Given the description of an element on the screen output the (x, y) to click on. 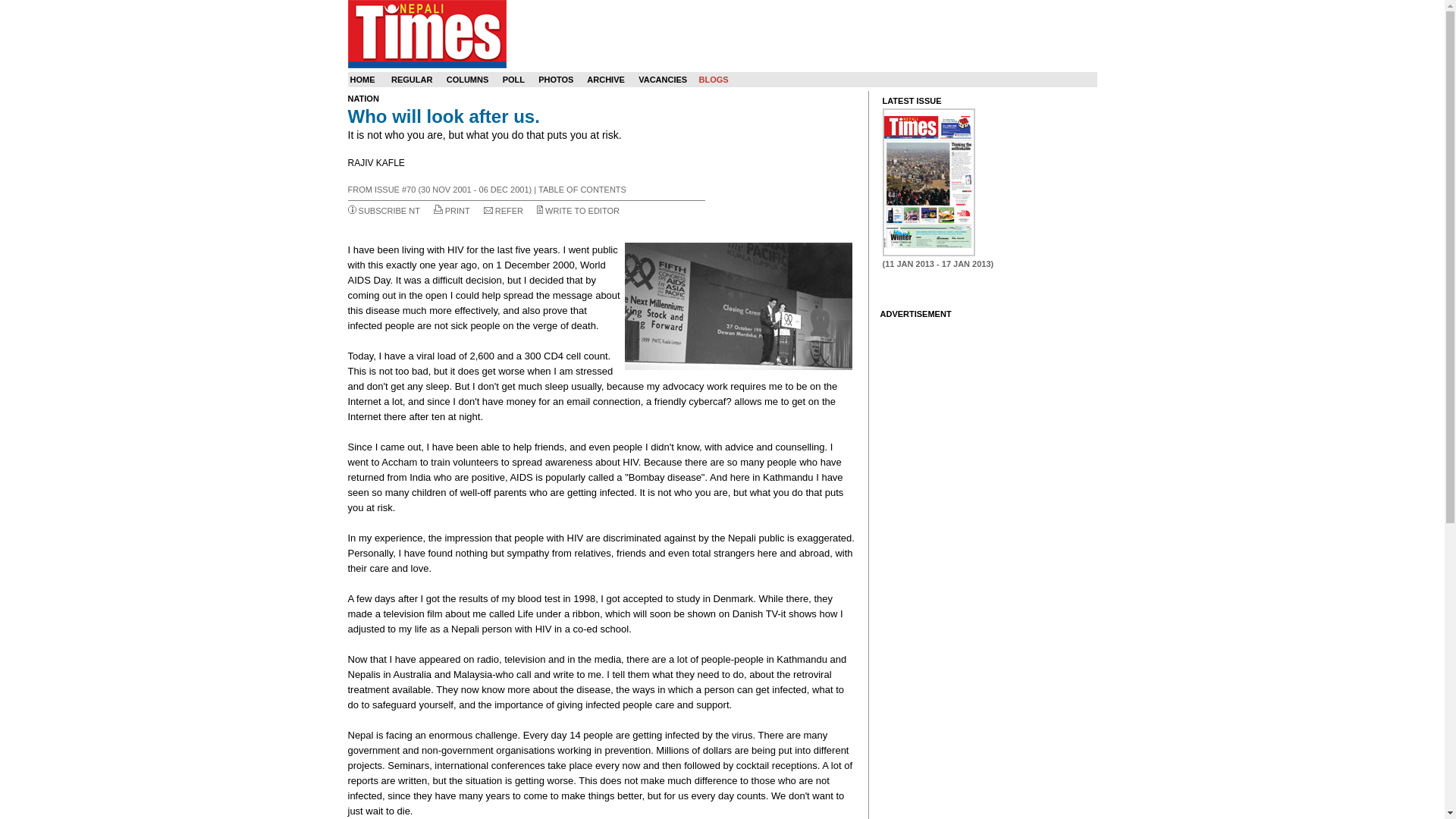
VACANCIES (663, 79)
WRITE TO EDITOR (582, 210)
REGULAR (411, 79)
REFER (508, 210)
SUBSCRIBE NT (389, 210)
BLOGS (713, 79)
HOME (362, 79)
ARCHIVE (605, 79)
Nepali Times (426, 33)
TABLE OF CONTENTS (582, 189)
POLL (513, 79)
PHOTOS (555, 79)
COLUMNS (467, 79)
PRINT (458, 210)
